Given the description of an element on the screen output the (x, y) to click on. 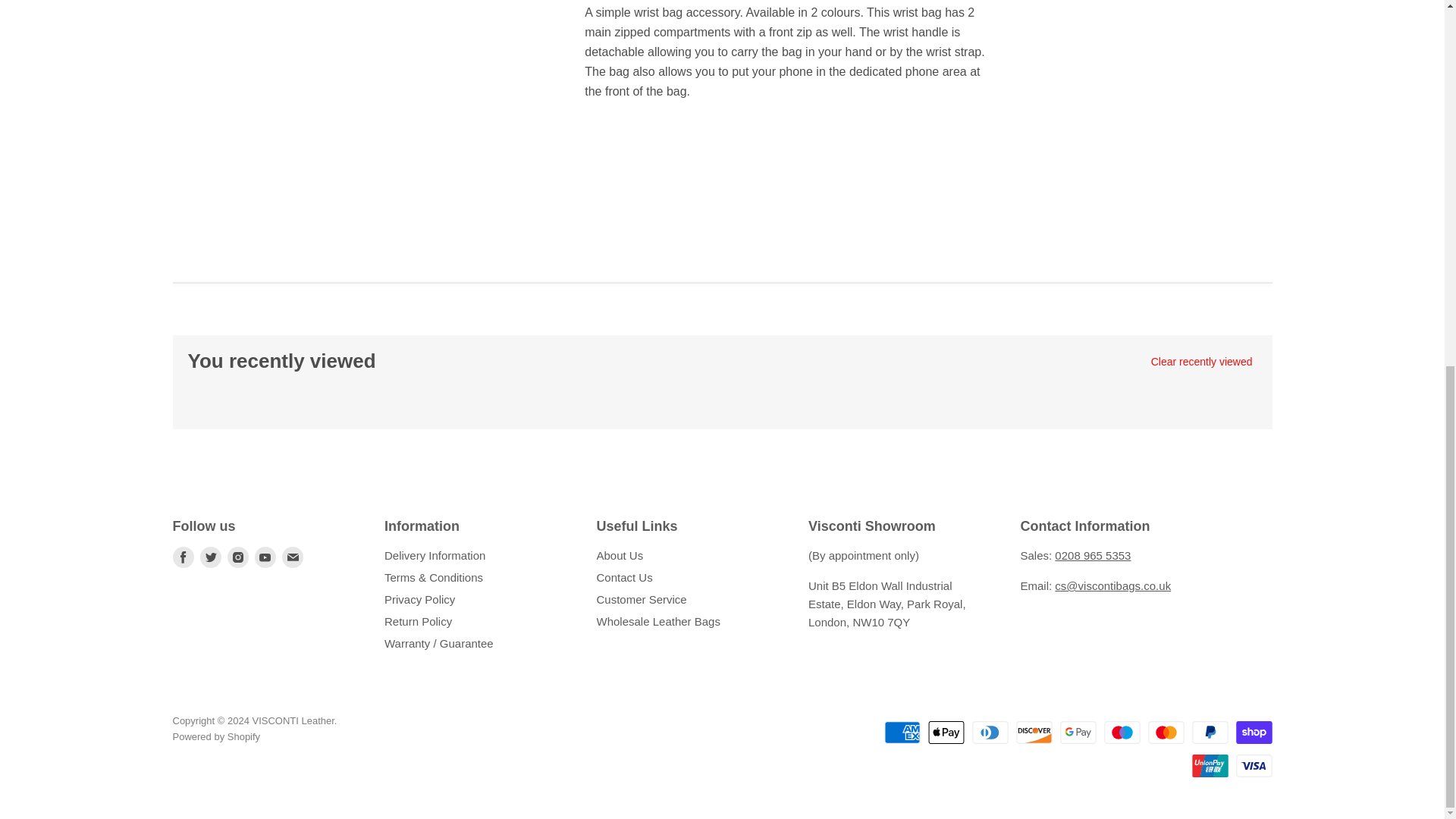
Instagram (237, 556)
Google Pay (1077, 732)
Discover (1034, 732)
Apple Pay (945, 732)
American Express (901, 732)
Youtube (265, 556)
Facebook (183, 556)
E-mail (292, 556)
Diners Club (990, 732)
Twitter (210, 556)
